Given the description of an element on the screen output the (x, y) to click on. 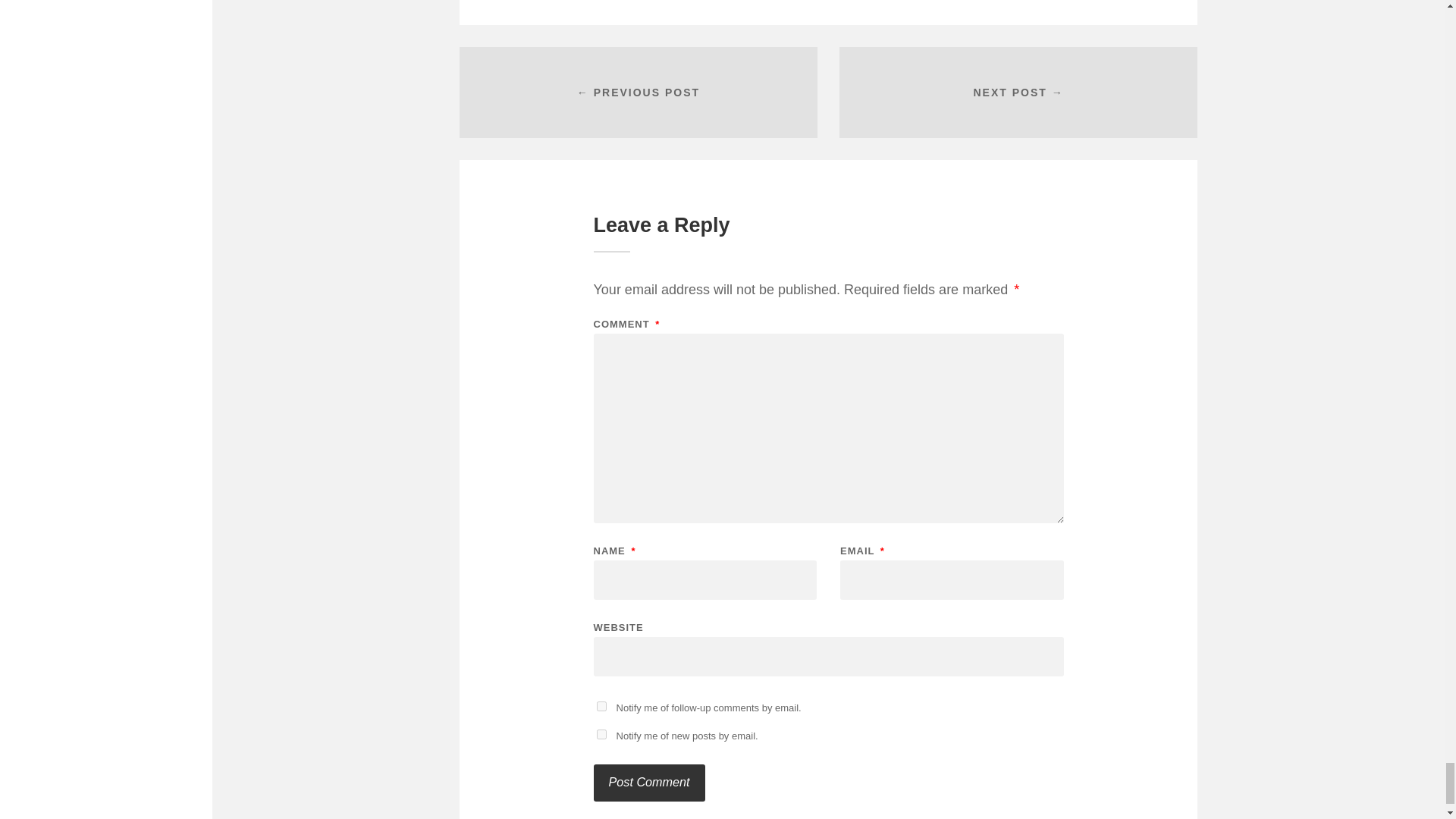
Post Comment (648, 782)
subscribe (600, 706)
subscribe (600, 734)
